Given the description of an element on the screen output the (x, y) to click on. 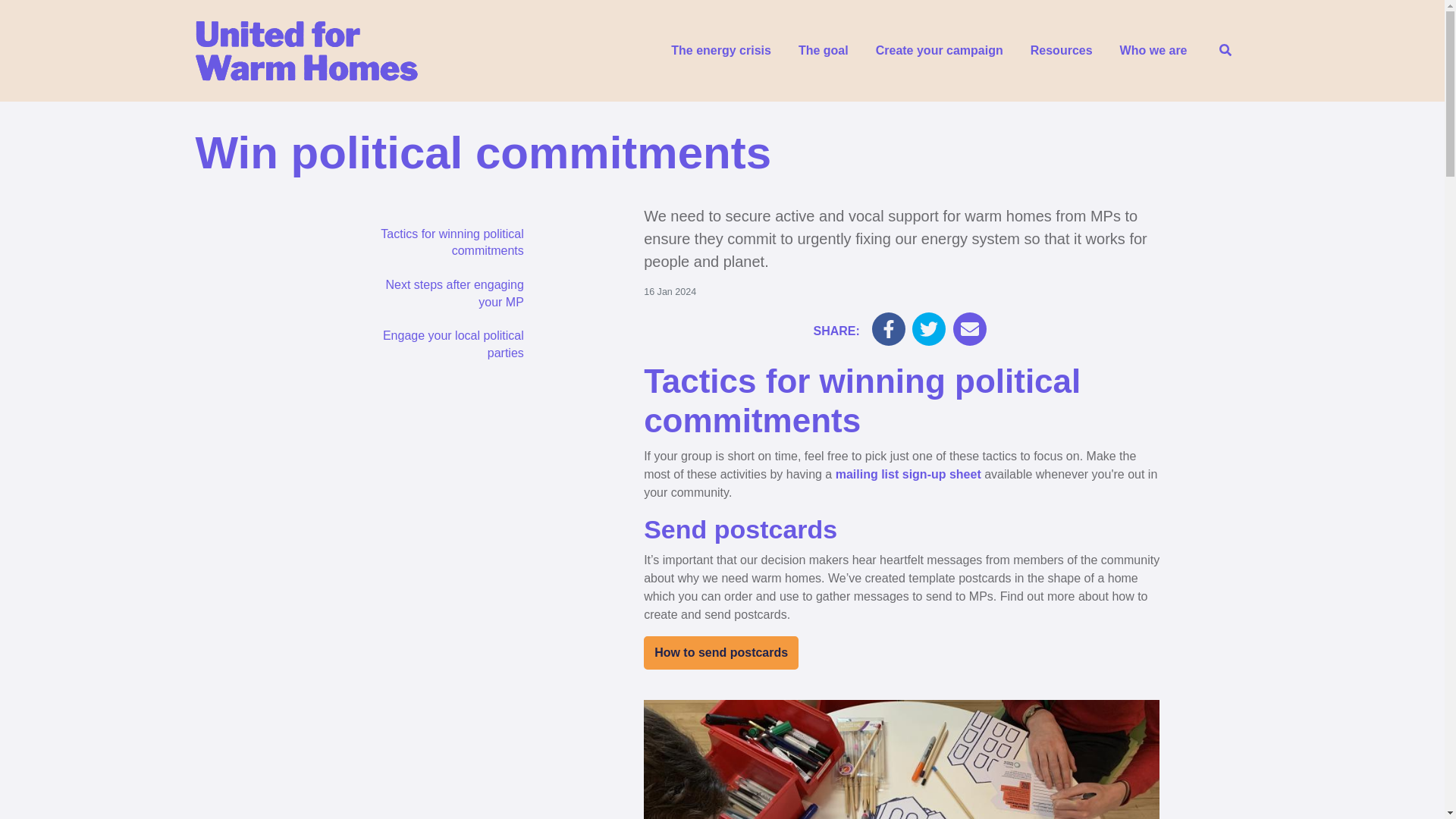
Tweet (928, 328)
United for Warm Homes (307, 50)
Next steps after engaging your MP (448, 294)
Who we are (1153, 50)
How to campaign for warm homes (938, 50)
Tactics for winning political commitments (448, 243)
Send email (970, 328)
What is the energy crisis? (721, 50)
The energy crisis (721, 50)
Share on Facebook (888, 328)
How to send postcards (720, 652)
mailing list sign-up sheet (908, 473)
Create your campaign (938, 50)
Engage your local political parties (448, 345)
